Given the description of an element on the screen output the (x, y) to click on. 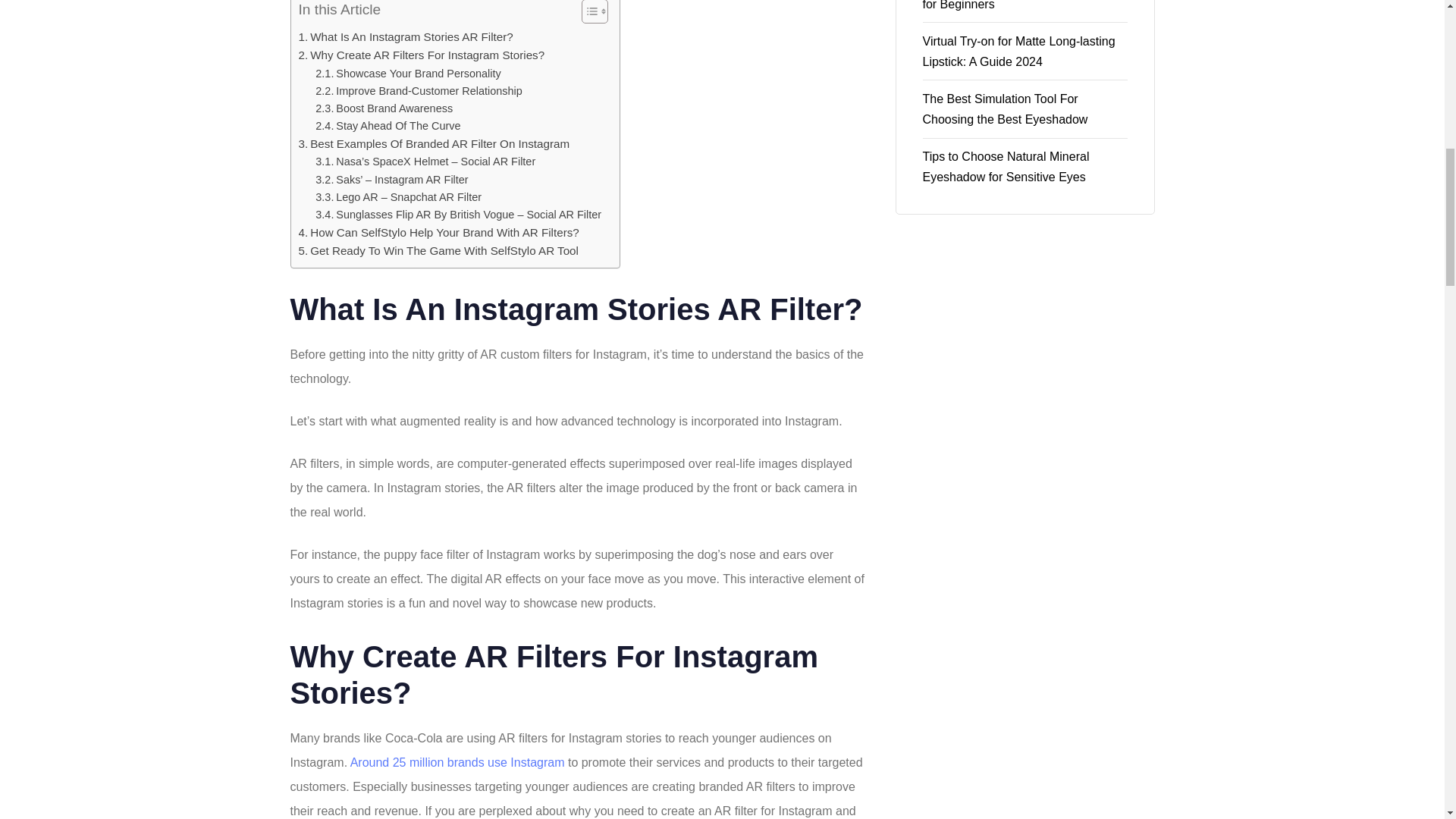
Why Create AR Filters For Instagram Stories? (421, 54)
Around 25 million brands use Instagram (455, 762)
Why Create AR Filters For Instagram Stories? (421, 54)
Best Examples Of Branded AR Filter On Instagram (434, 144)
Boost Brand Awareness (383, 108)
Stay Ahead Of The Curve (387, 126)
Get Ready To Win The Game With SelfStylo AR Tool (438, 250)
Showcase Your Brand Personality (407, 73)
Improve Brand-Customer Relationship (418, 90)
What Is An Instagram Stories AR Filter? (405, 36)
Improve Brand-Customer Relationship (418, 90)
What Is An Instagram Stories AR Filter? (405, 36)
Stay Ahead Of The Curve (387, 126)
Get Ready To Win The Game With SelfStylo AR Tool (438, 250)
